Given the description of an element on the screen output the (x, y) to click on. 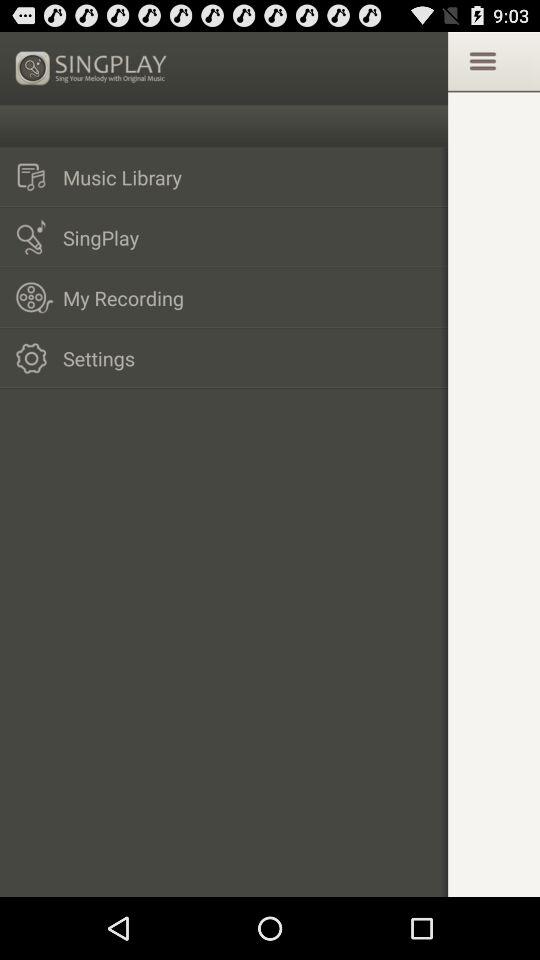
click on the icon which is before my recording (35, 297)
select the text singplay (91, 68)
